Given the description of an element on the screen output the (x, y) to click on. 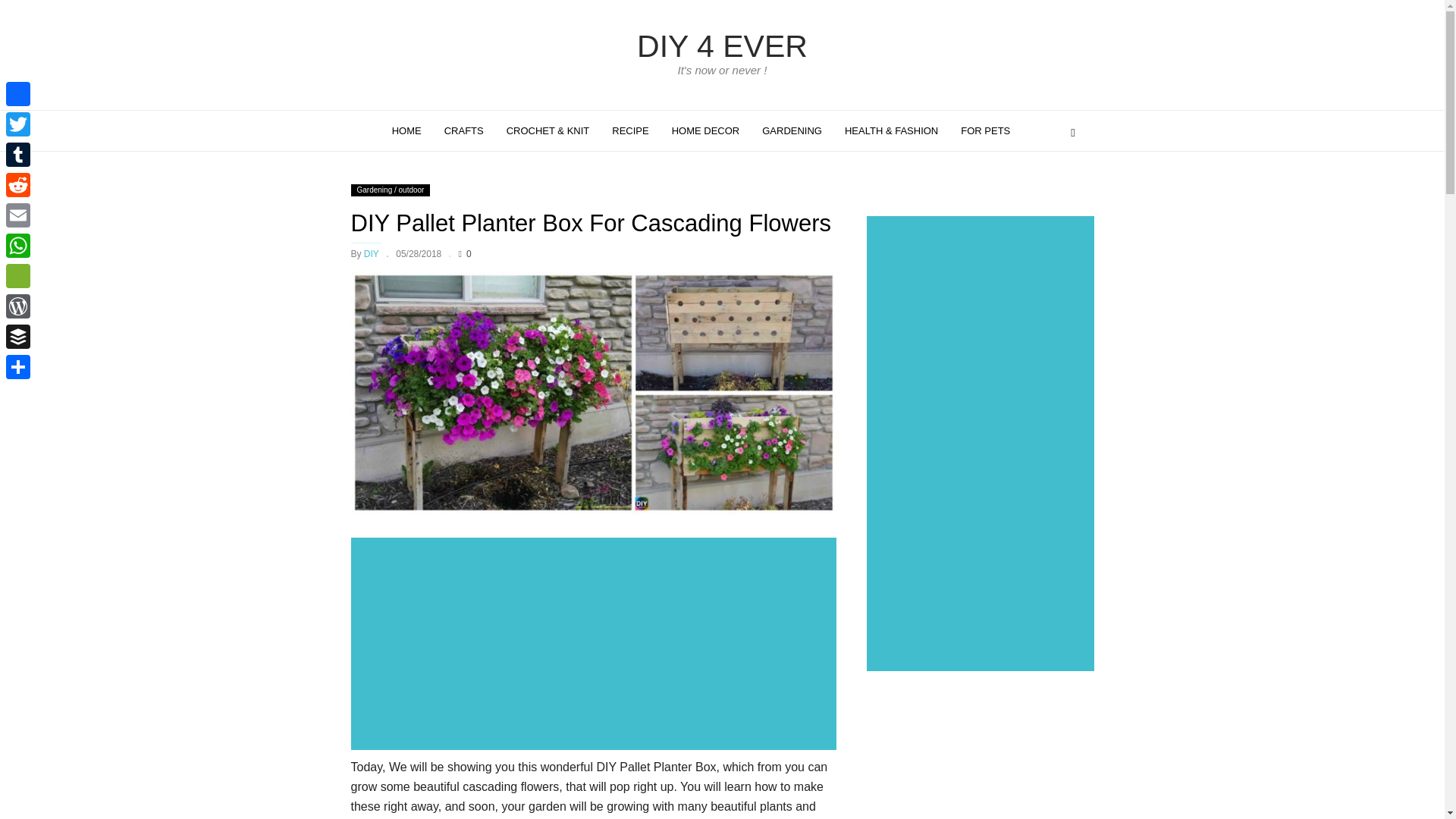
Tumblr (17, 154)
Facebook (17, 93)
Twitter (17, 123)
Advertisement (595, 644)
FOR PETS (985, 130)
DIY 4 EVER (722, 45)
HOME DECOR (706, 130)
GARDENING (791, 130)
DIY (371, 253)
0 (464, 253)
RECIPE (629, 130)
CRAFTS (463, 130)
Advertisement (979, 755)
HOME (406, 130)
